Given the description of an element on the screen output the (x, y) to click on. 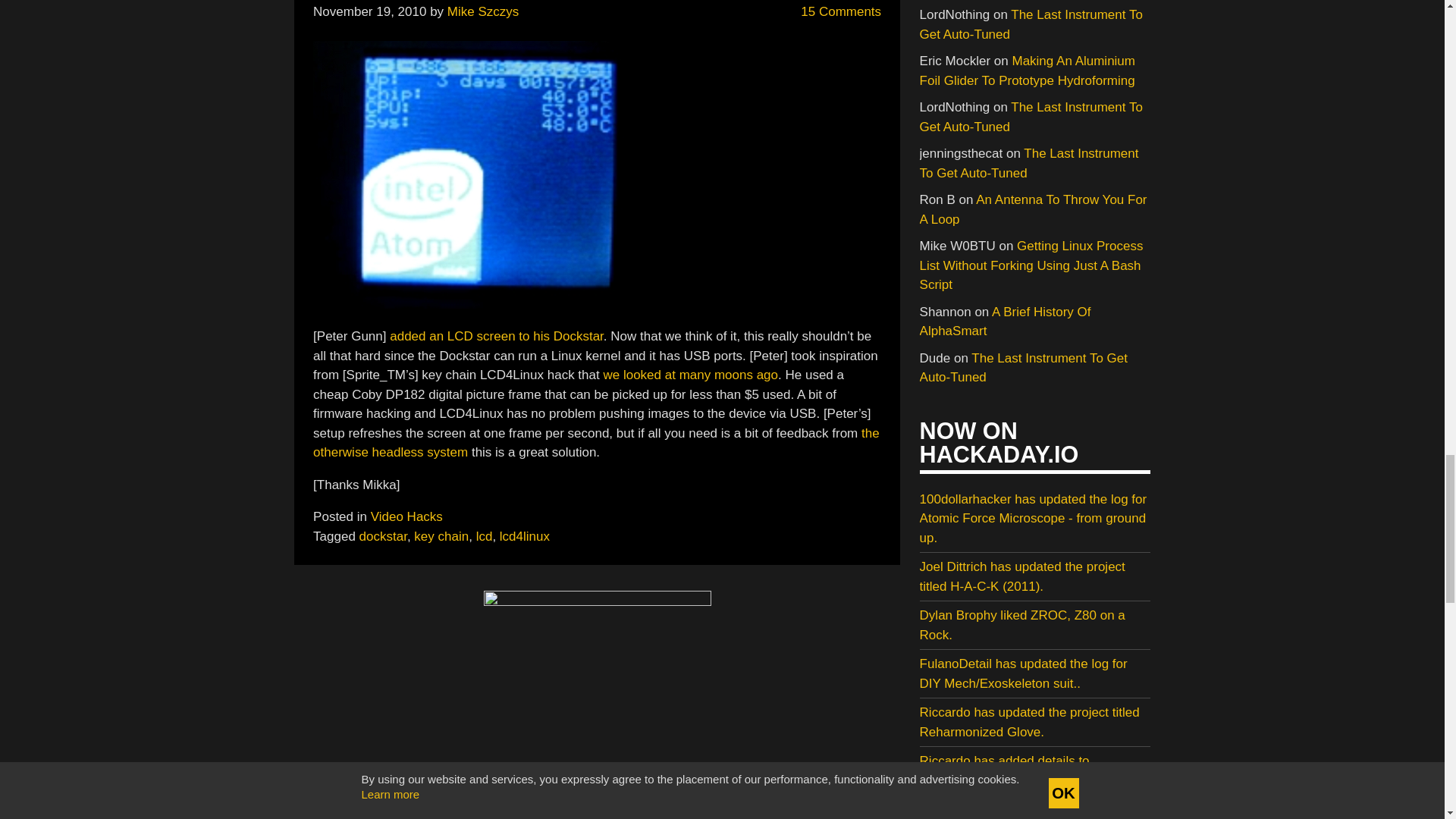
dockstar-lcd-screen (491, 174)
November 19, 2010 - 11:00 am (369, 11)
Posts by Mike Szczys (482, 11)
